Given the description of an element on the screen output the (x, y) to click on. 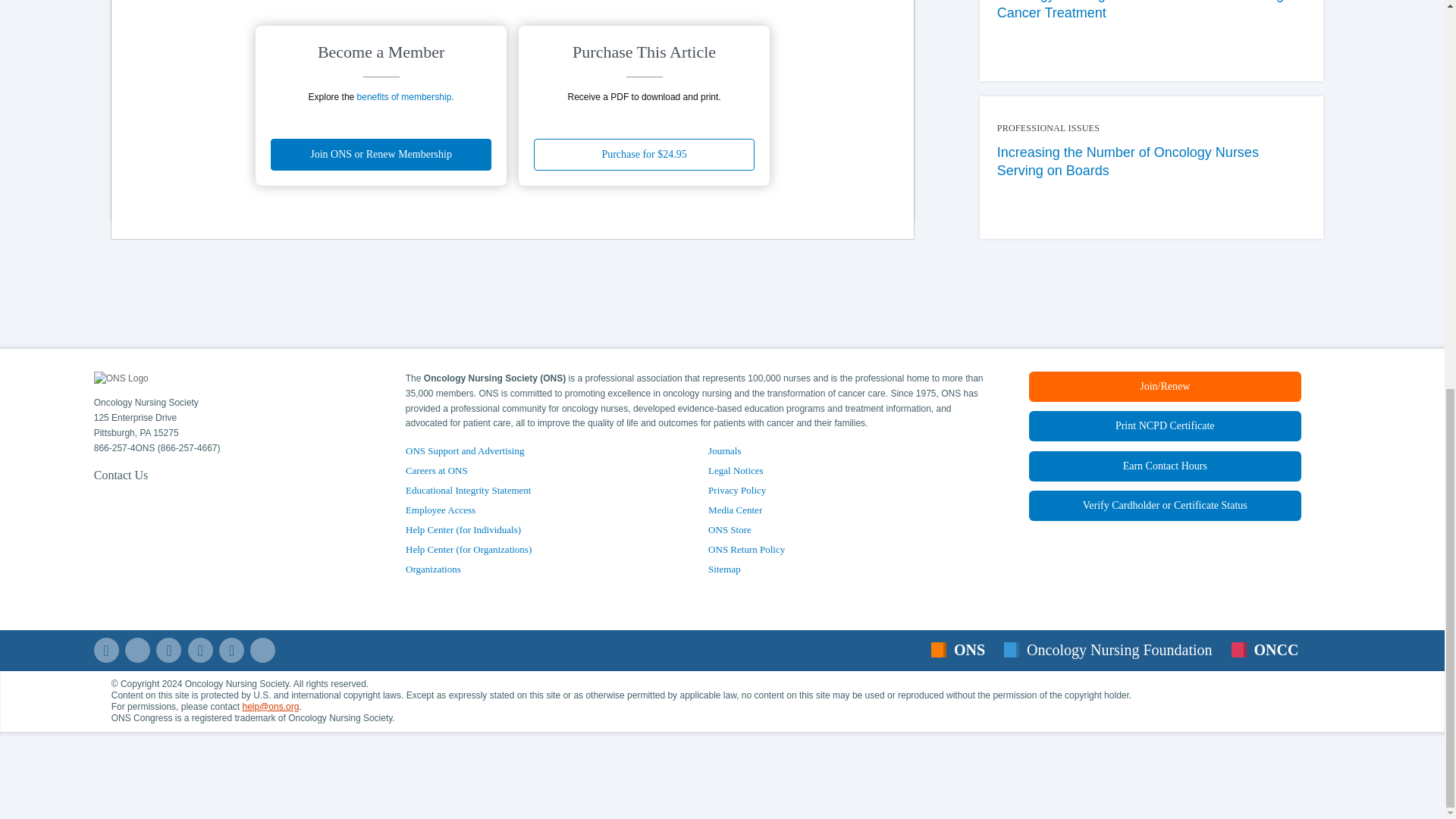
twitter (137, 650)
Licensing Opportunities (433, 568)
facebook (106, 650)
ONS Logo (121, 378)
Help Center (1165, 505)
